Given the description of an element on the screen output the (x, y) to click on. 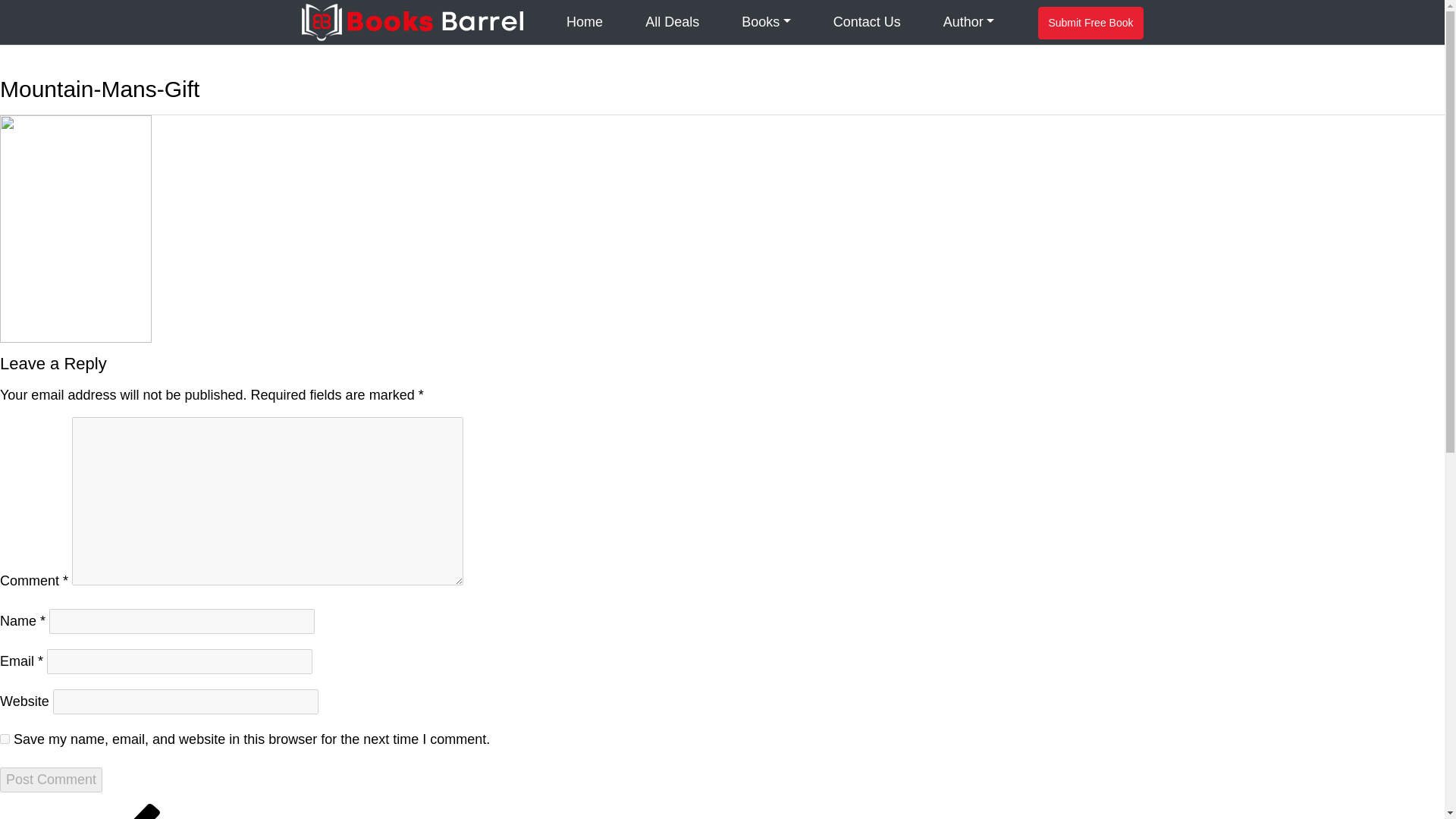
Contact Us (866, 22)
Submit Free Book (1090, 22)
Post Comment (50, 779)
Post Comment (50, 779)
yes (5, 738)
All Deals (672, 22)
Books (766, 22)
Home (584, 22)
Author (969, 22)
